Given the description of an element on the screen output the (x, y) to click on. 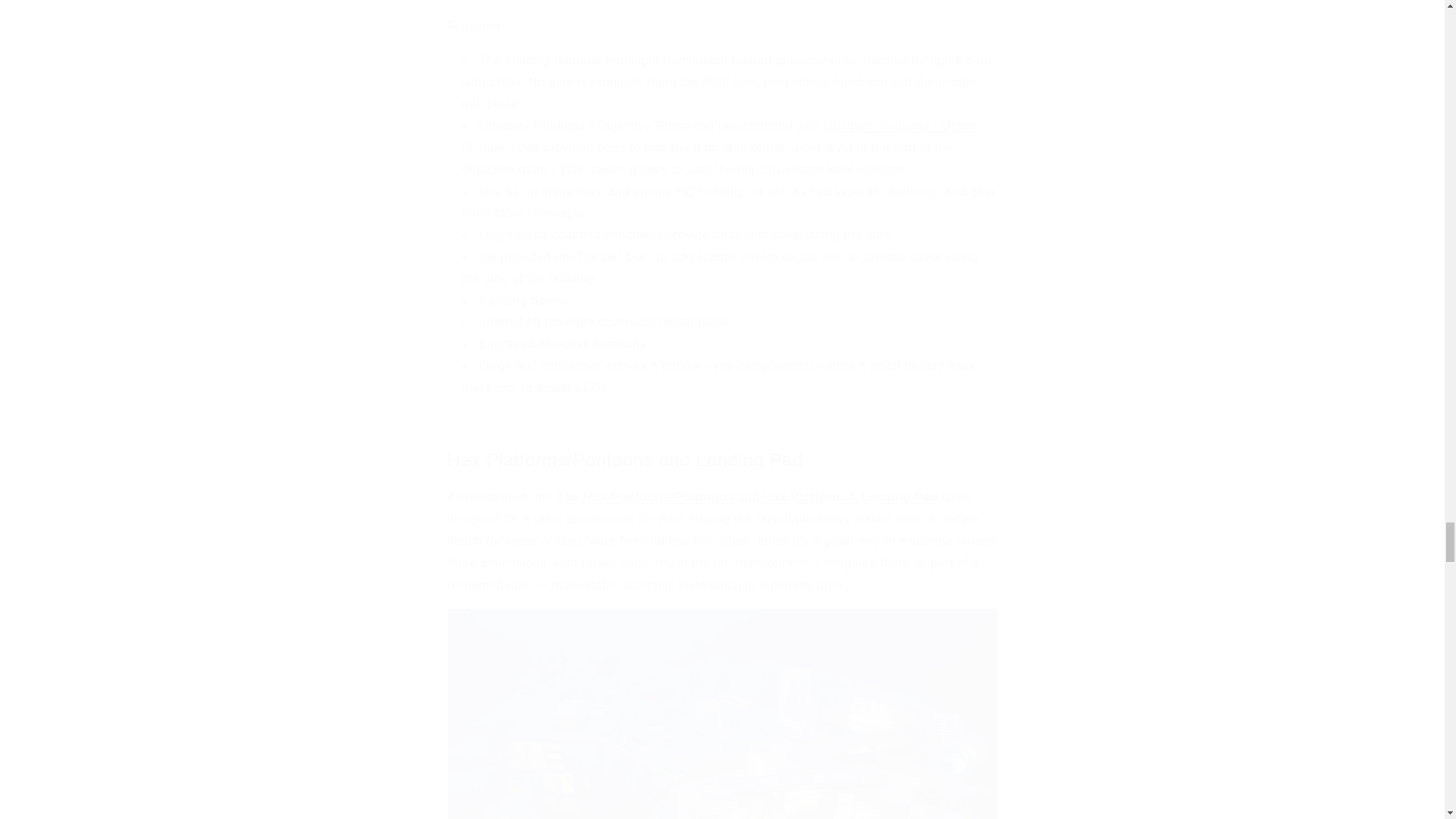
Hex Platforms Terrain (644, 496)
Obliquity Holdings - Upper Module (719, 135)
